Given the description of an element on the screen output the (x, y) to click on. 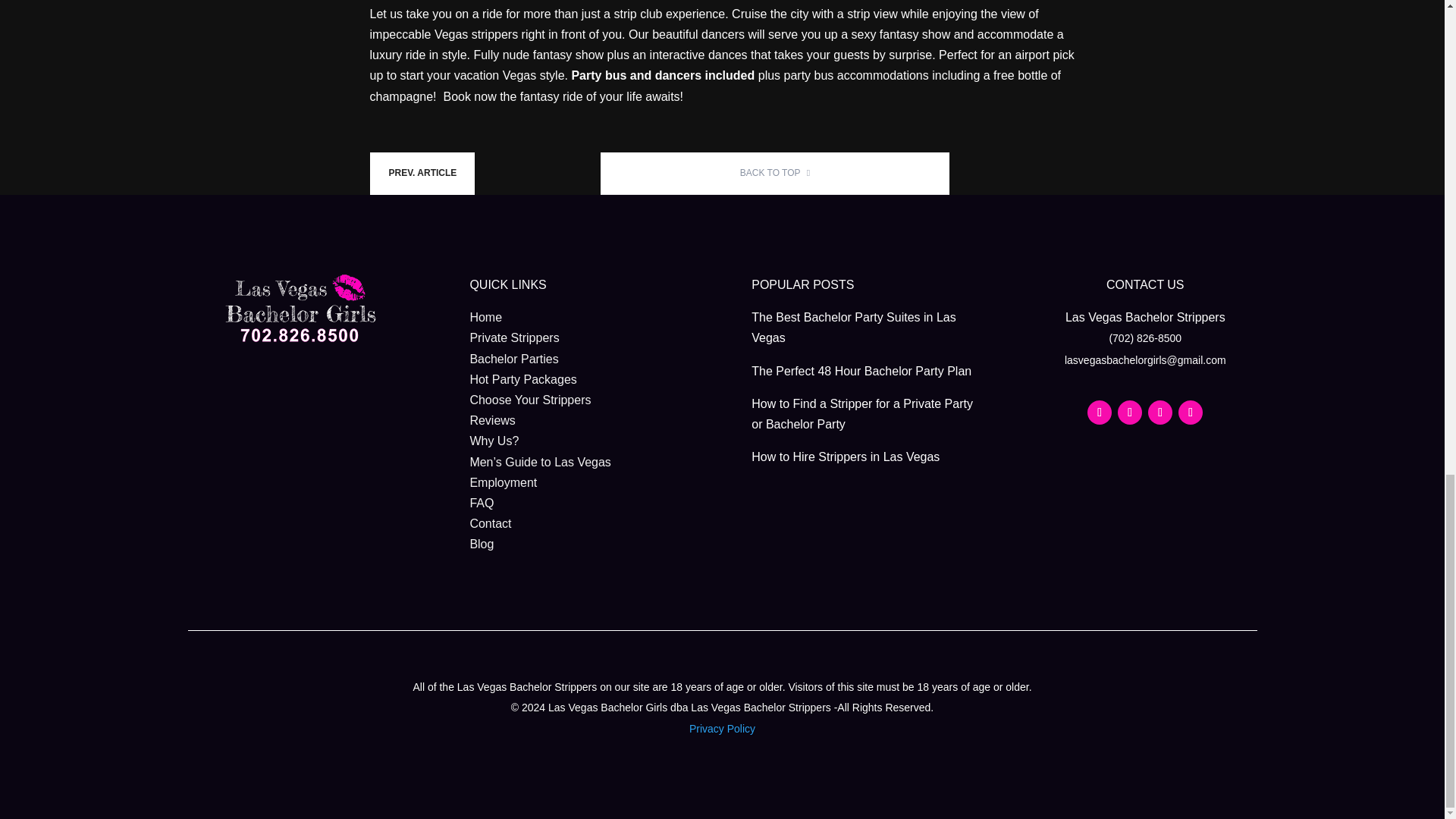
Follow on Facebook (1099, 412)
Follow on X (1129, 412)
PREV. ARTICLE (422, 173)
Follow on Pinterest (1189, 412)
Private Strippers (513, 337)
Hot Party Packages (522, 379)
Follow on Instagram (1160, 412)
Home (485, 317)
Bachelor Parties (512, 358)
Solo Show or Couples Show (422, 173)
